Given the description of an element on the screen output the (x, y) to click on. 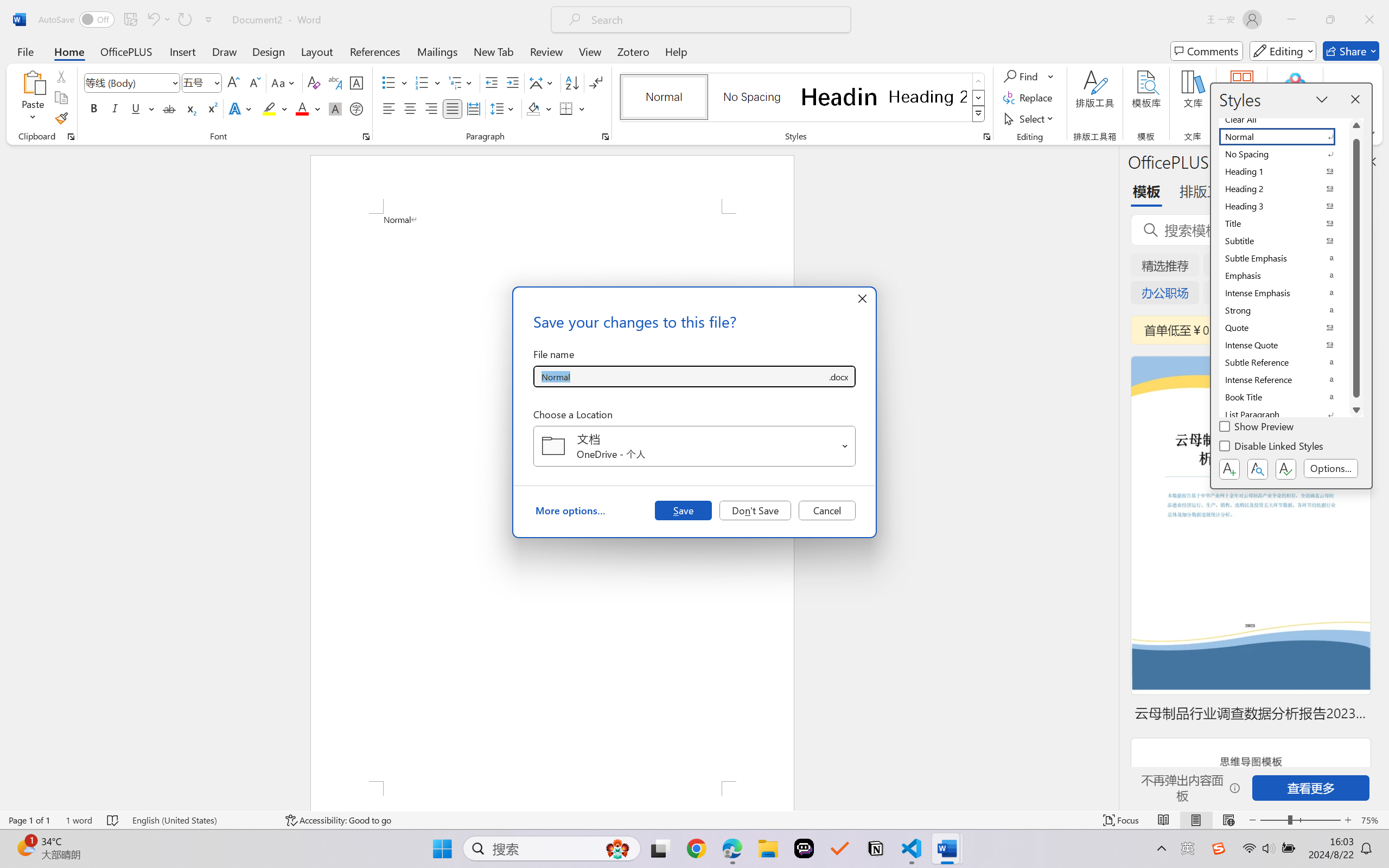
Zoom In (1348, 819)
Emphasis (1283, 275)
Font... (365, 136)
AutomationID: BadgeAnchorLargeTicker (24, 847)
Class: MsoCommandBar (694, 819)
Show/Hide Editing Marks (595, 82)
Intense Quote (1283, 345)
Align Right (431, 108)
New Tab (493, 51)
